Given the description of an element on the screen output the (x, y) to click on. 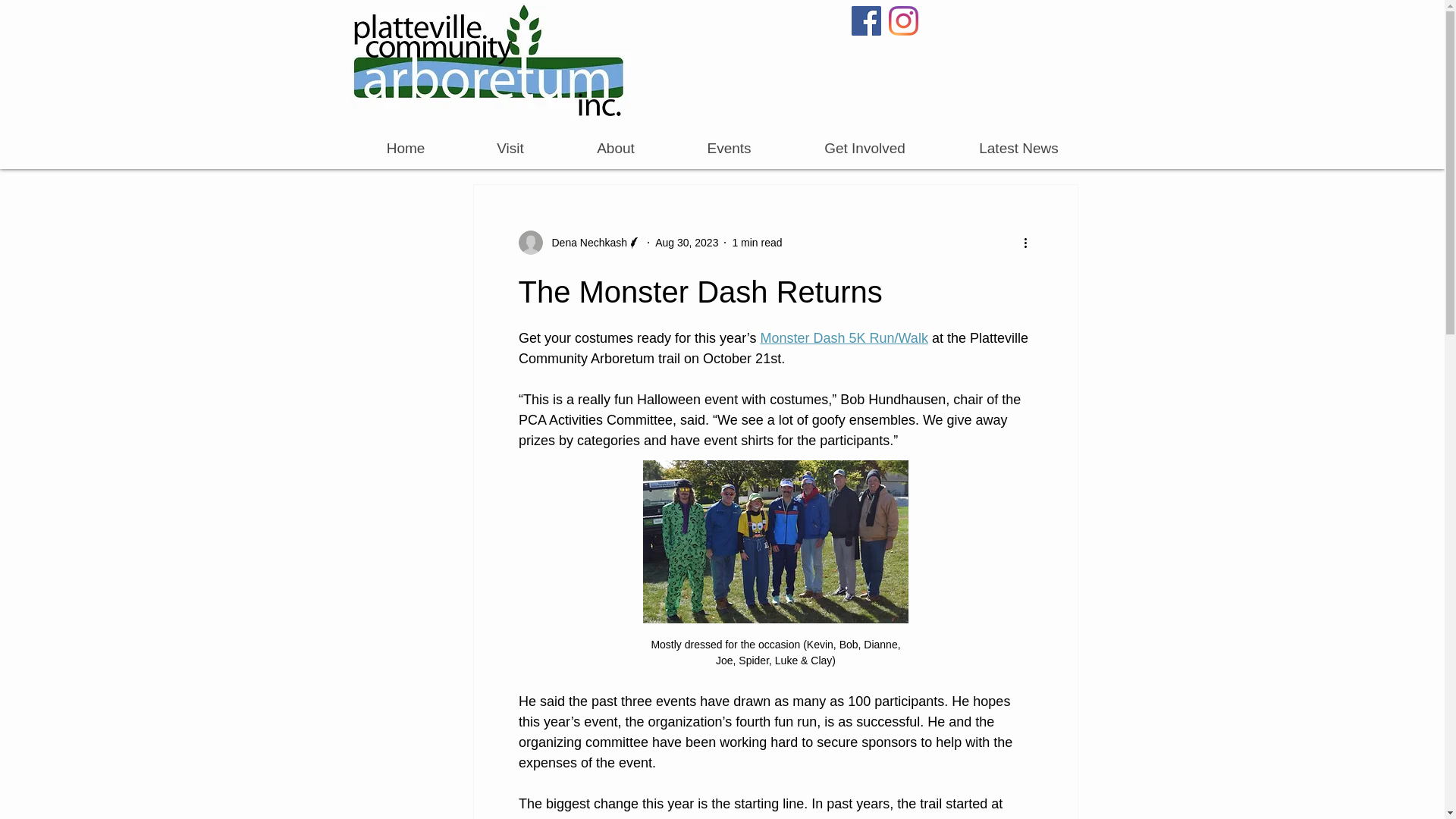
Home (405, 147)
Dena Nechkash (585, 242)
Aug 30, 2023 (686, 242)
Events (728, 147)
1 min read (756, 242)
Visit (510, 147)
Latest News (1018, 147)
About (615, 147)
Get Involved (864, 147)
